Given the description of an element on the screen output the (x, y) to click on. 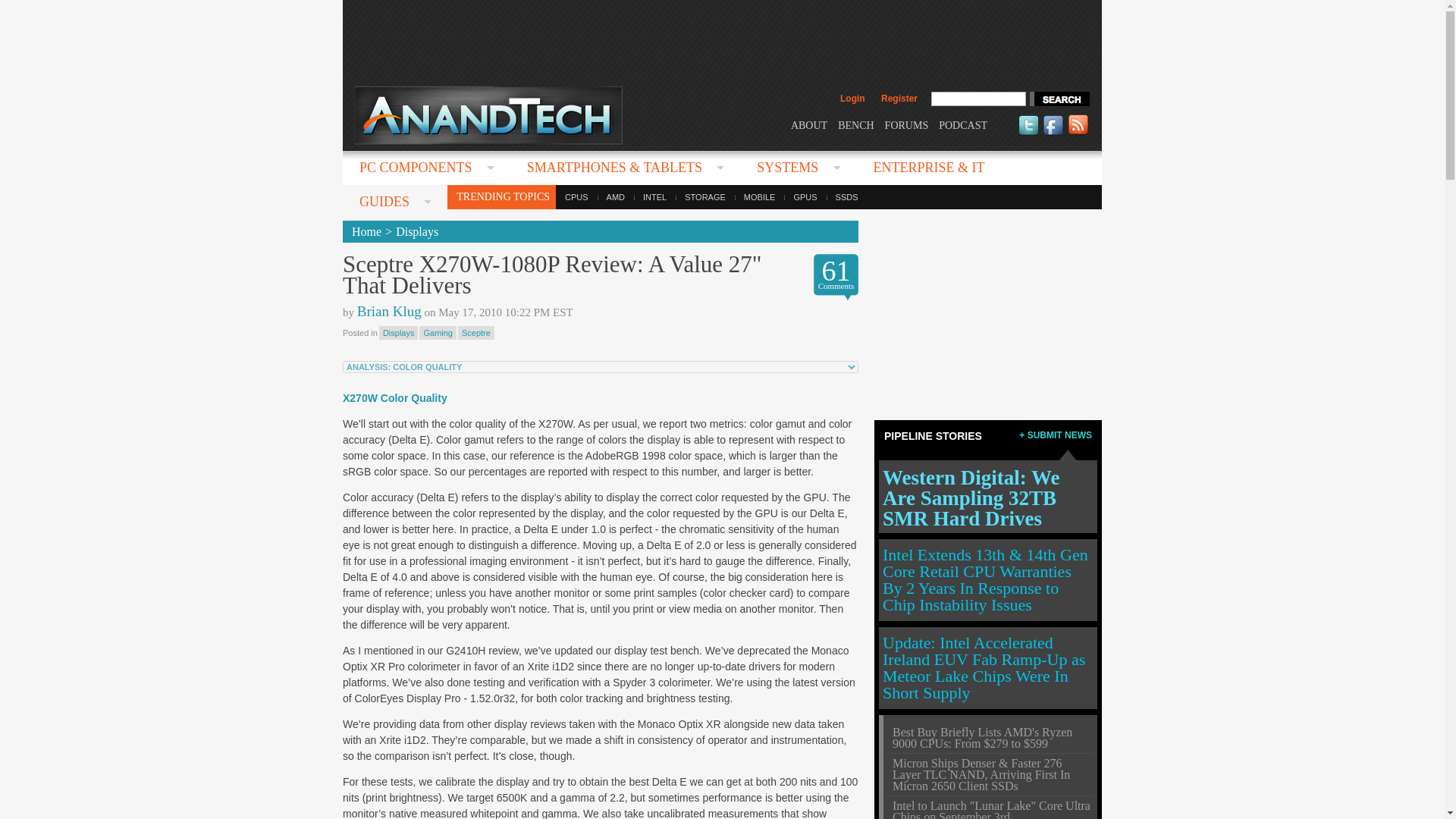
Login (852, 98)
FORUMS (906, 125)
search (1059, 98)
PODCAST (963, 125)
ABOUT (808, 125)
search (1059, 98)
BENCH (855, 125)
search (1059, 98)
Register (898, 98)
